Given the description of an element on the screen output the (x, y) to click on. 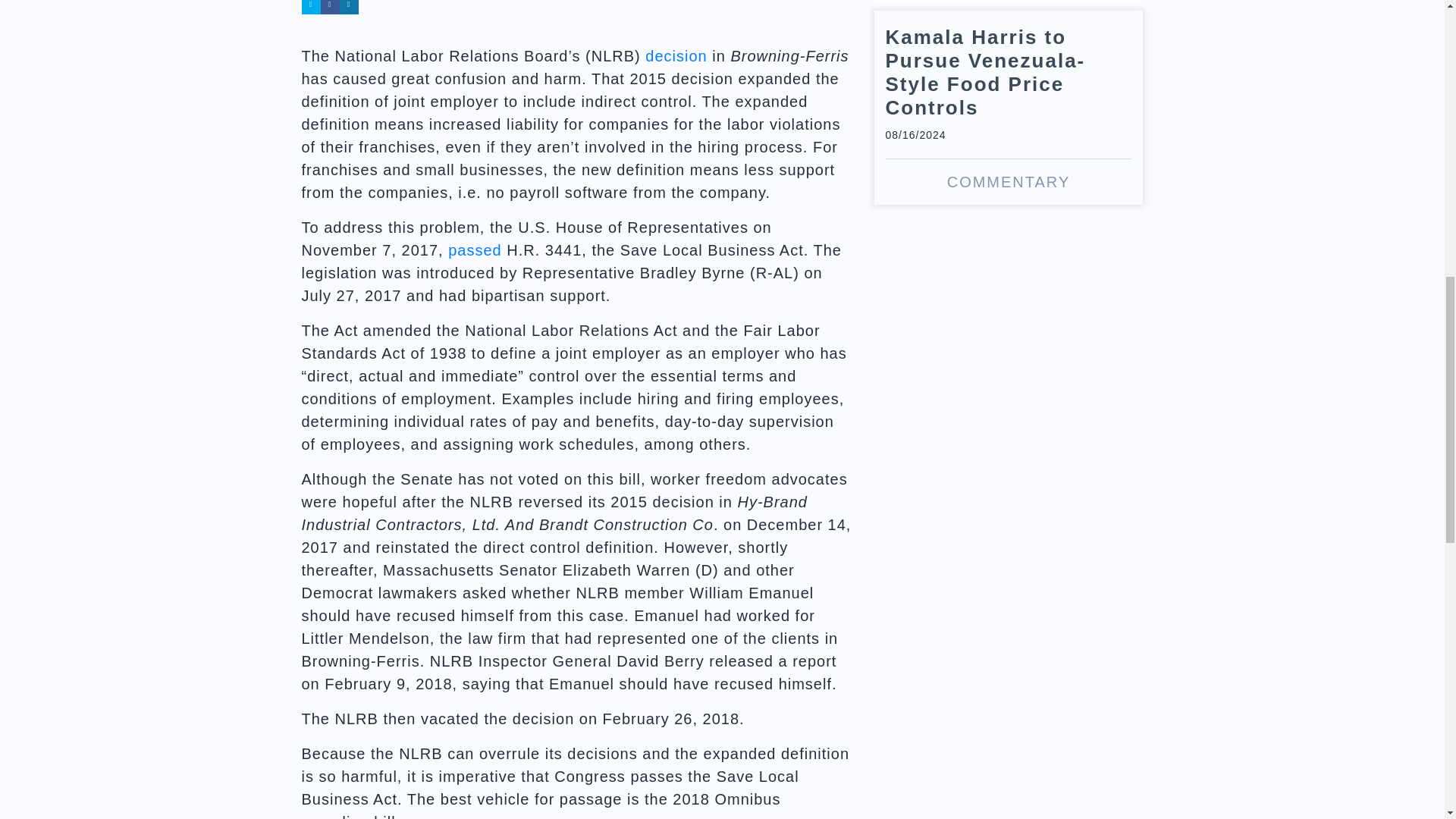
LinkedIn (348, 7)
Kamala Harris to Pursue Venezuala-Style Food Price Controls (1007, 107)
passed (475, 249)
Twitter (310, 7)
Facebook (329, 7)
decision (675, 55)
